Given the description of an element on the screen output the (x, y) to click on. 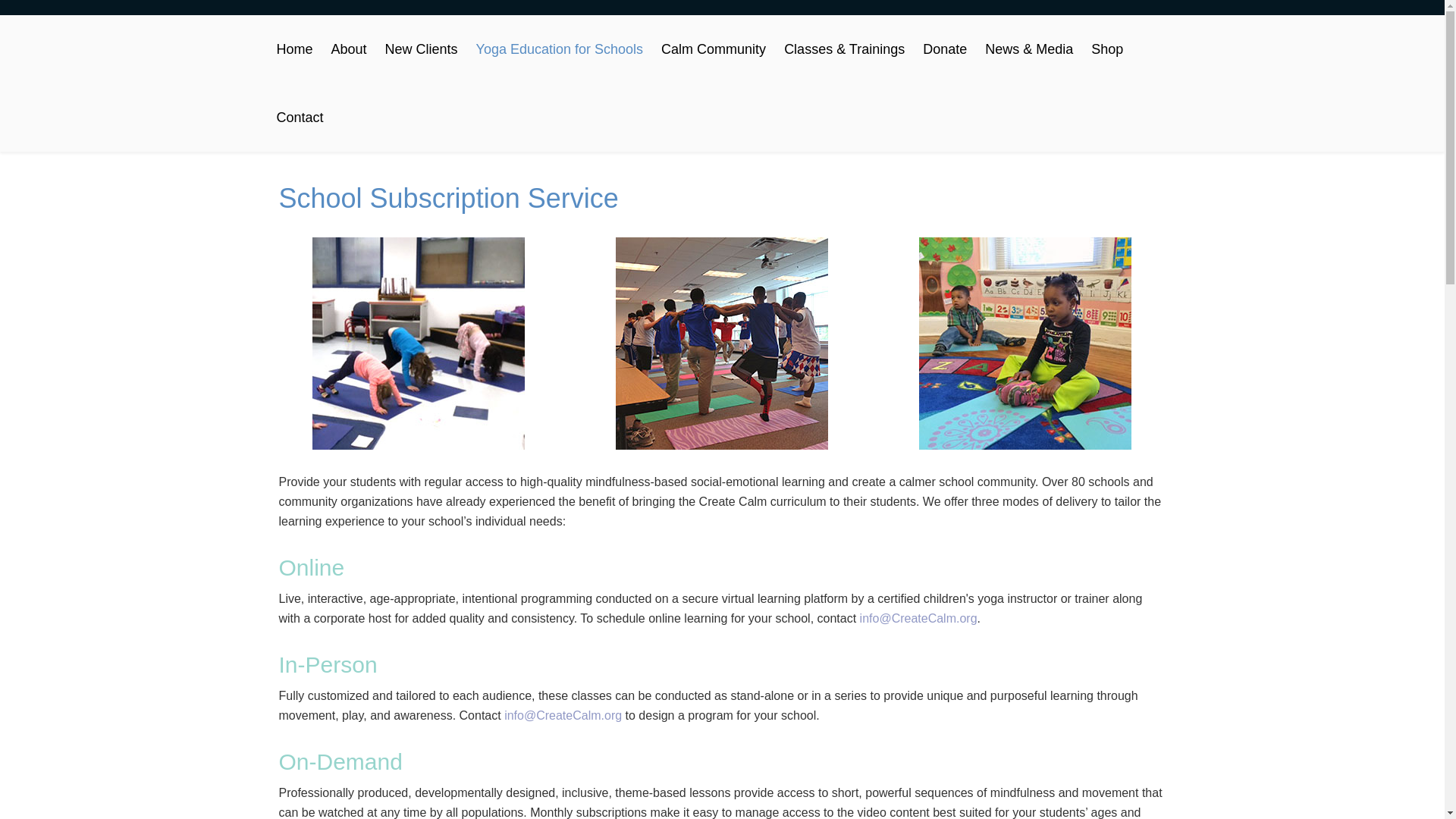
Donate (944, 49)
Calm Community (713, 49)
Contact (298, 117)
Yoga Education for Schools (559, 49)
New Clients (421, 49)
